Given the description of an element on the screen output the (x, y) to click on. 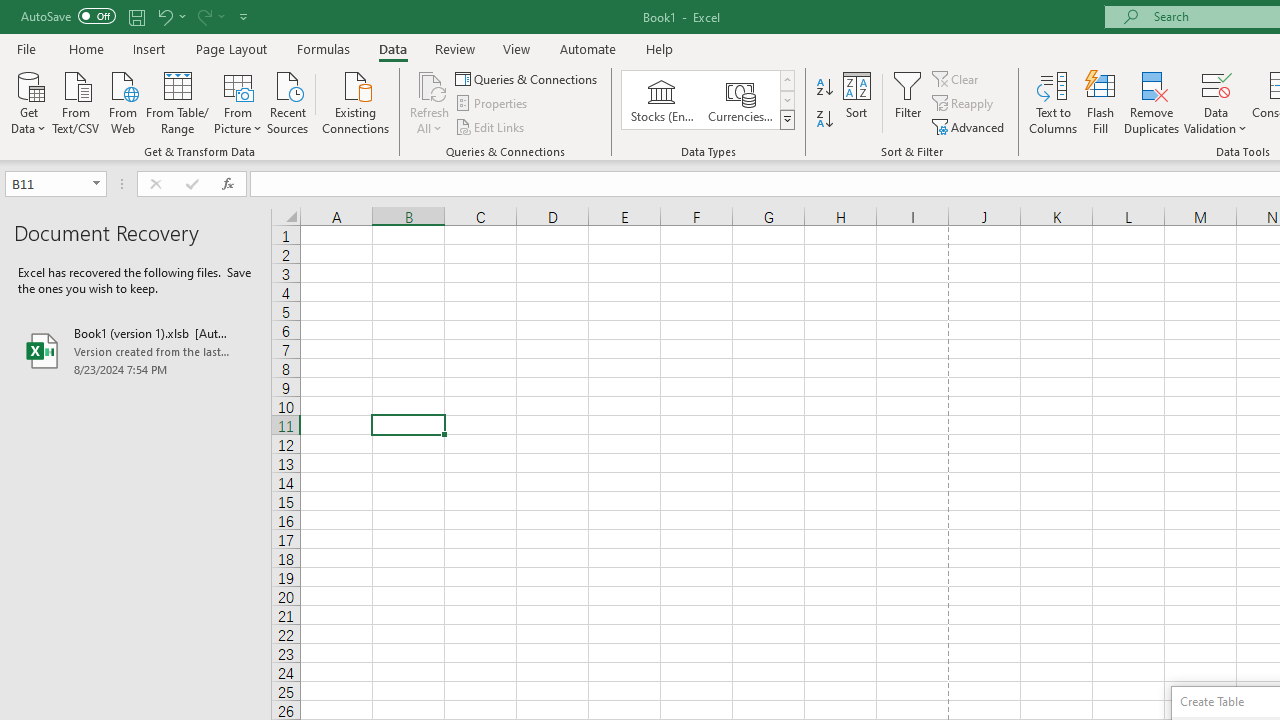
From Picture (238, 101)
